Given the description of an element on the screen output the (x, y) to click on. 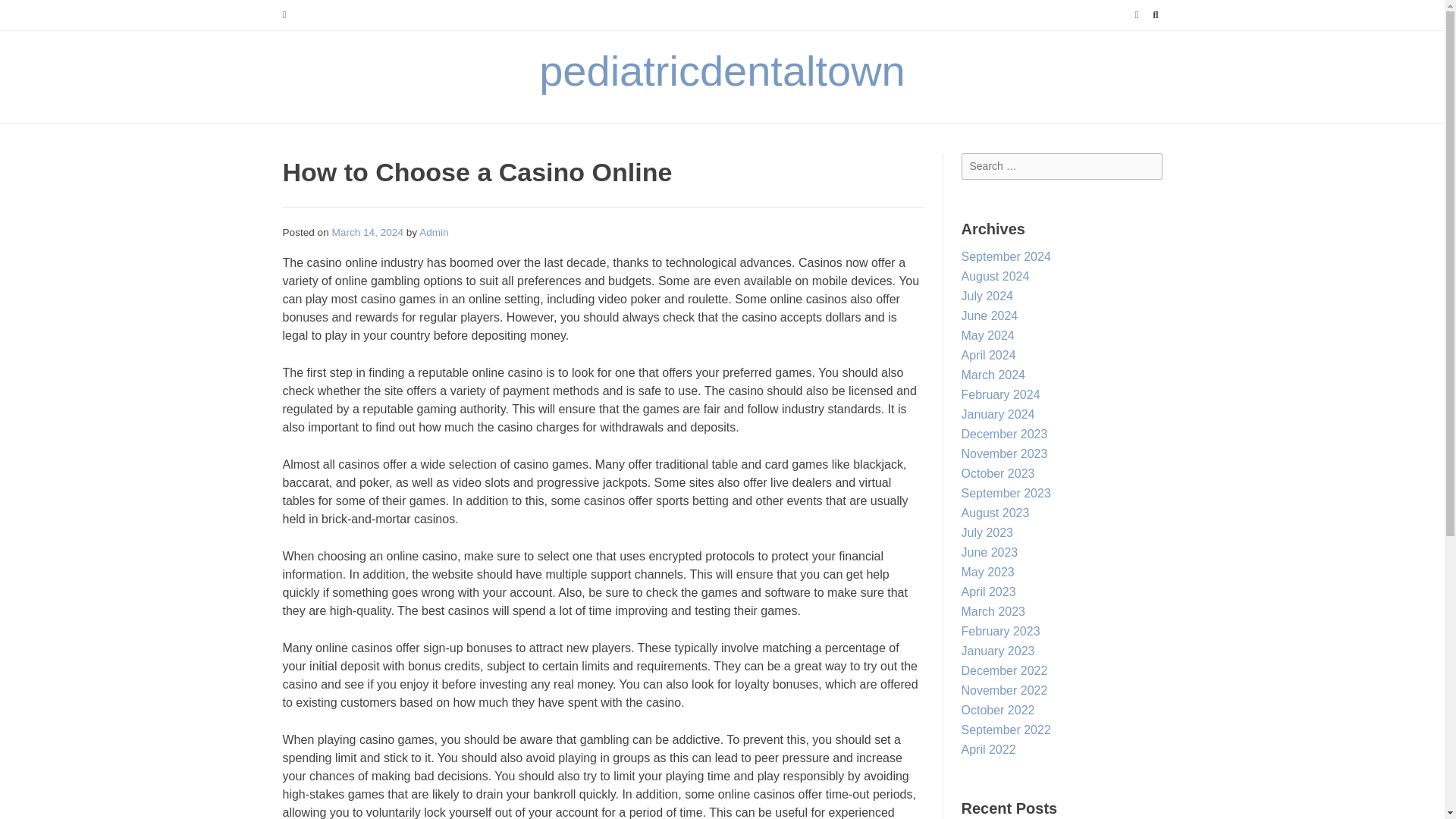
June 2023 (988, 552)
Admin (433, 232)
pediatricdentaltown (721, 70)
October 2022 (997, 709)
January 2024 (997, 413)
April 2023 (988, 591)
July 2023 (986, 532)
May 2024 (987, 335)
Search (27, 13)
February 2023 (1000, 631)
